Given the description of an element on the screen output the (x, y) to click on. 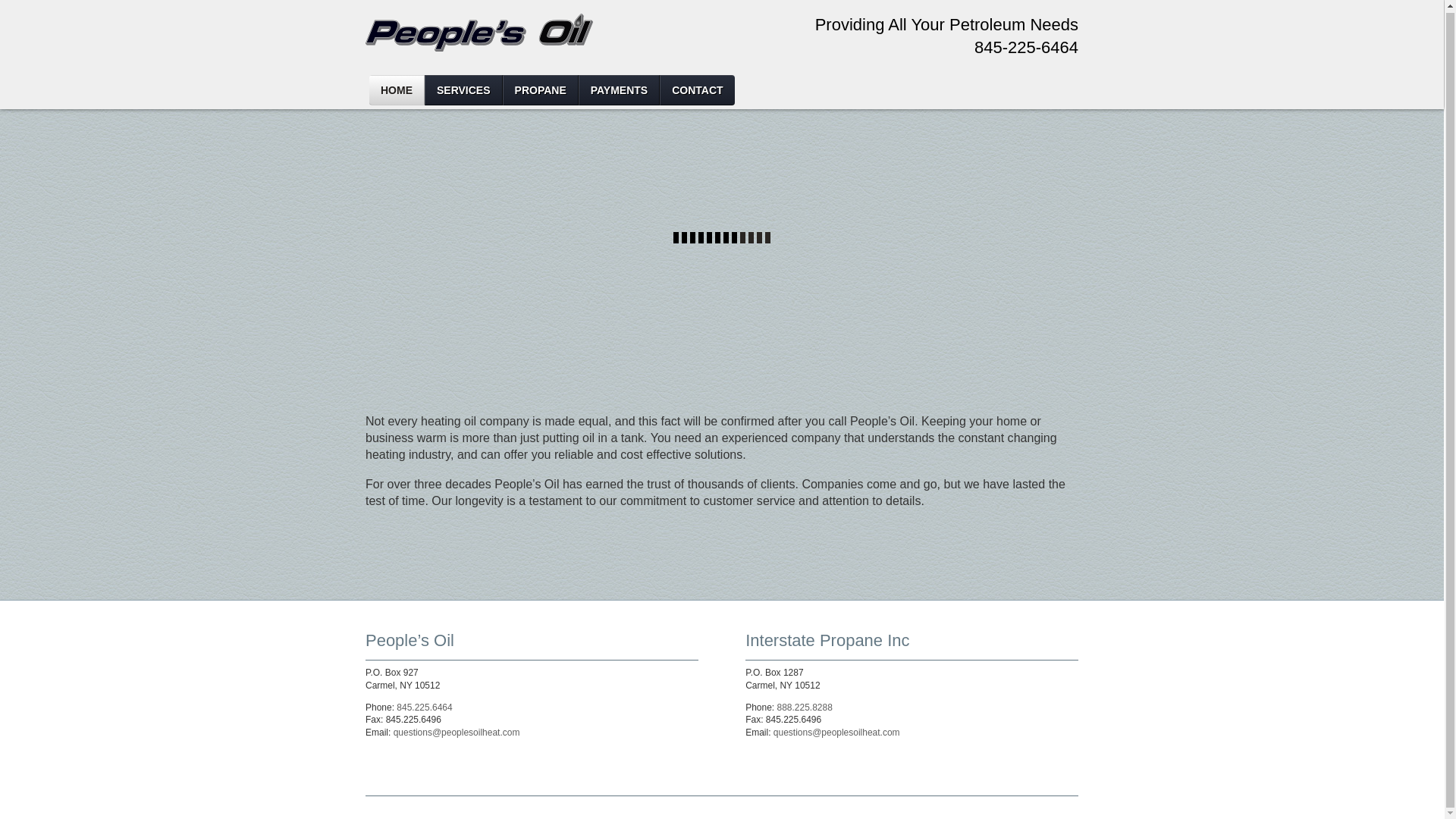
888.225.8288 (804, 706)
845.225.6464 (423, 706)
CONTACT (696, 90)
HOME (397, 90)
SERVICES (463, 90)
845-225-6464 (1026, 46)
PAYMENTS (618, 90)
PROPANE (540, 90)
Providing All Your Petroleum Needs (478, 47)
